Given the description of an element on the screen output the (x, y) to click on. 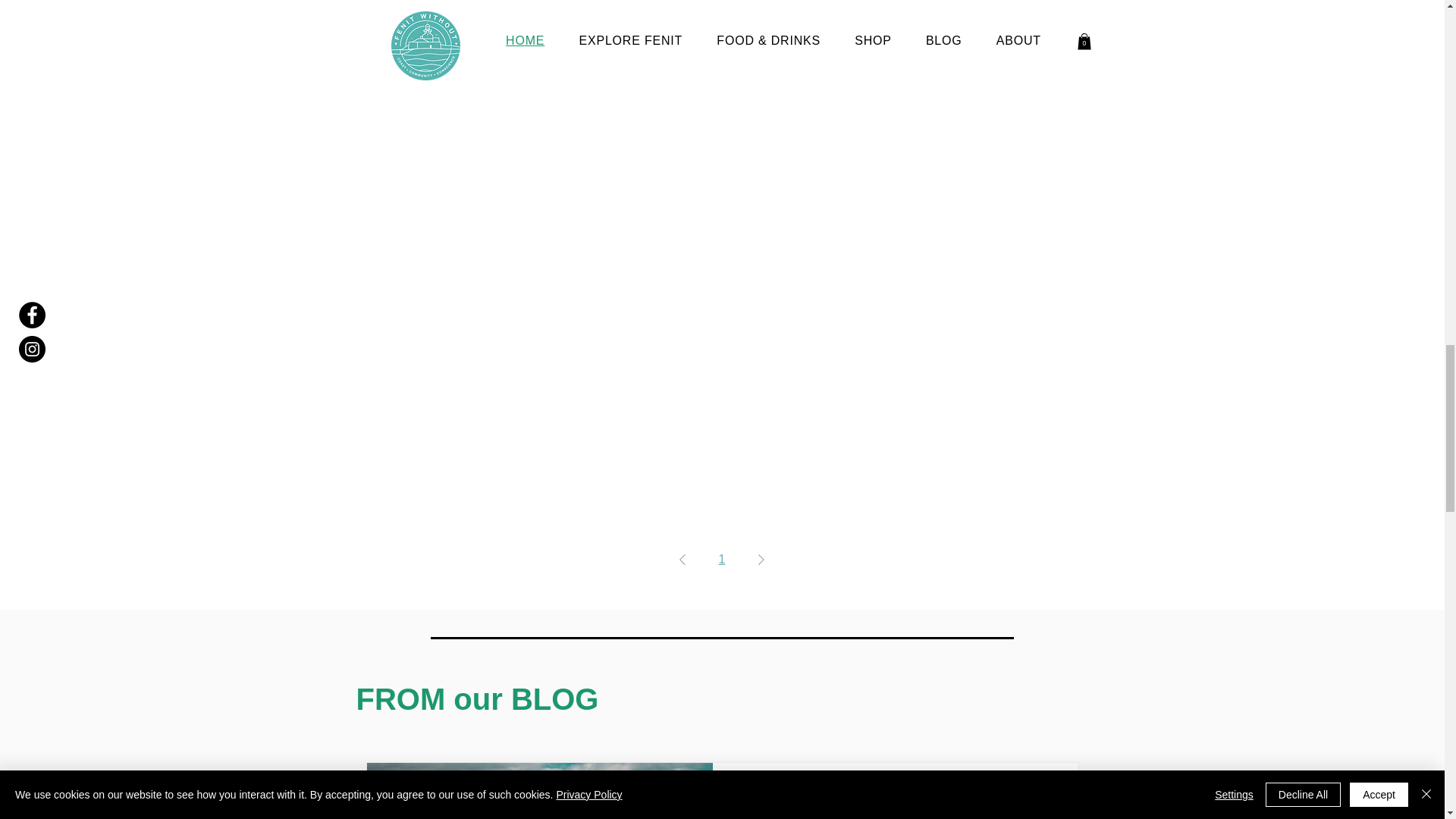
Fenit Without (798, 793)
